Given the description of an element on the screen output the (x, y) to click on. 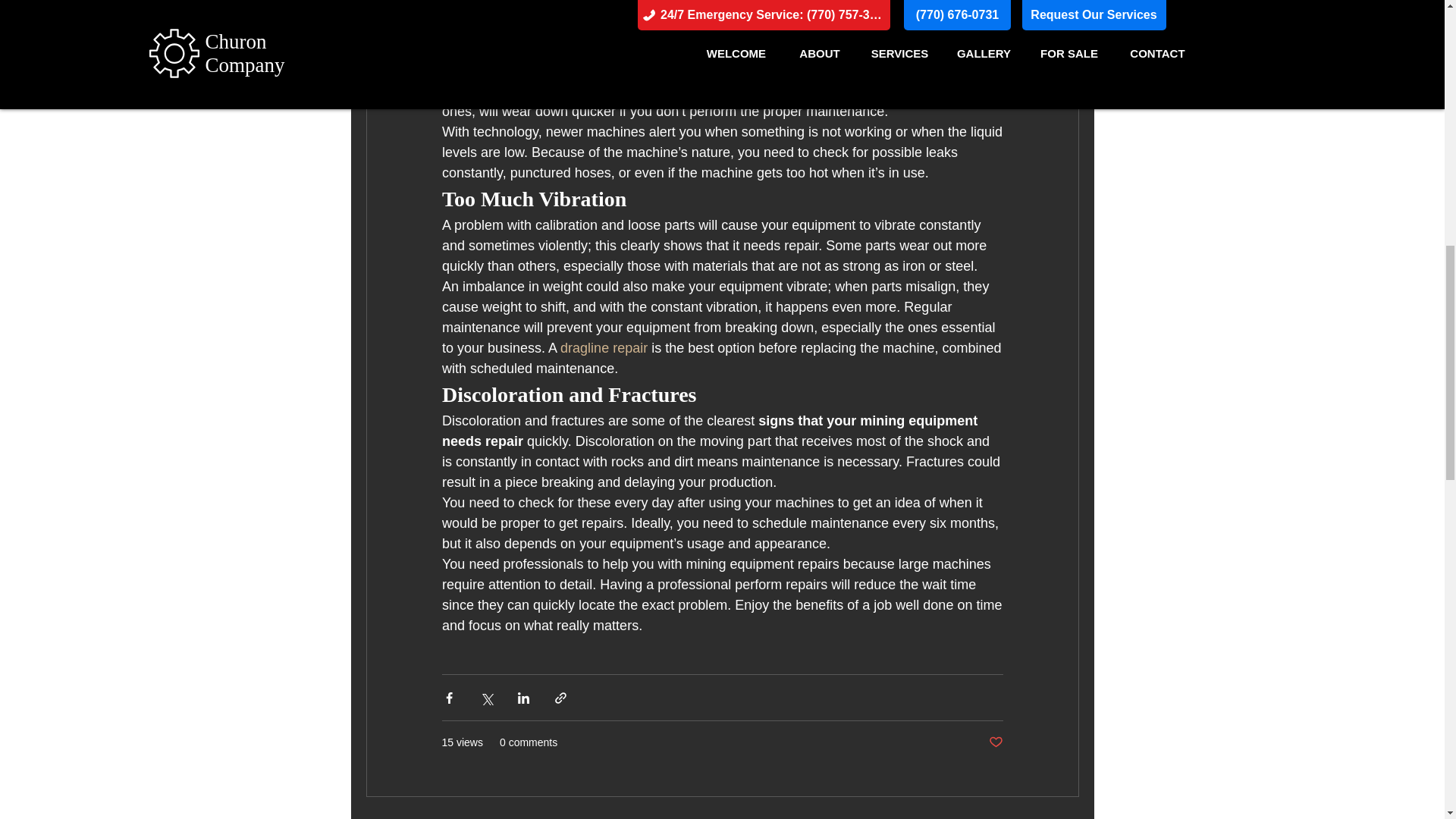
dragline repair (603, 347)
Post not marked as liked (995, 742)
See All (1061, 816)
